Given the description of an element on the screen output the (x, y) to click on. 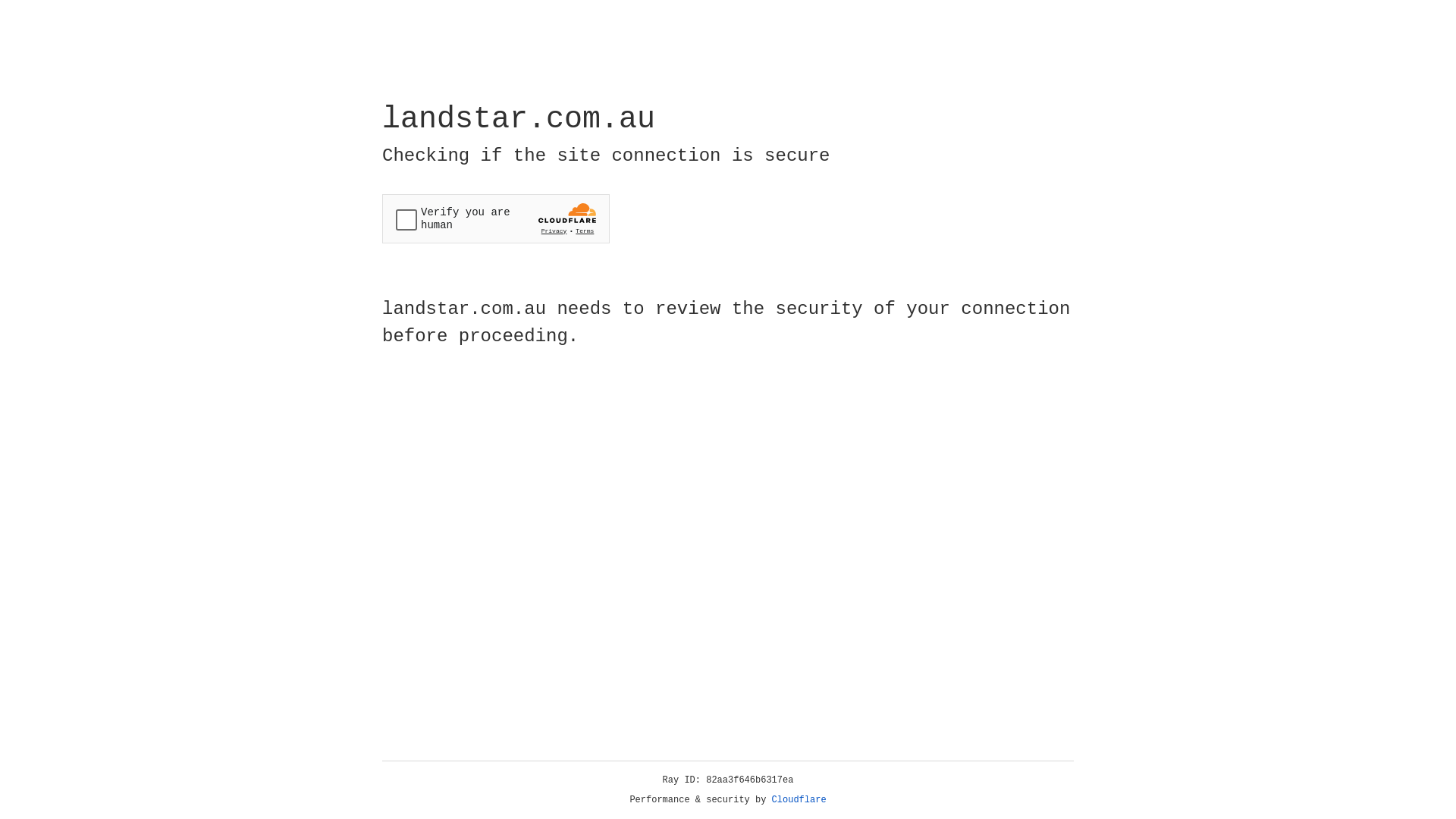
Widget containing a Cloudflare security challenge Element type: hover (495, 218)
Cloudflare Element type: text (798, 799)
